Given the description of an element on the screen output the (x, y) to click on. 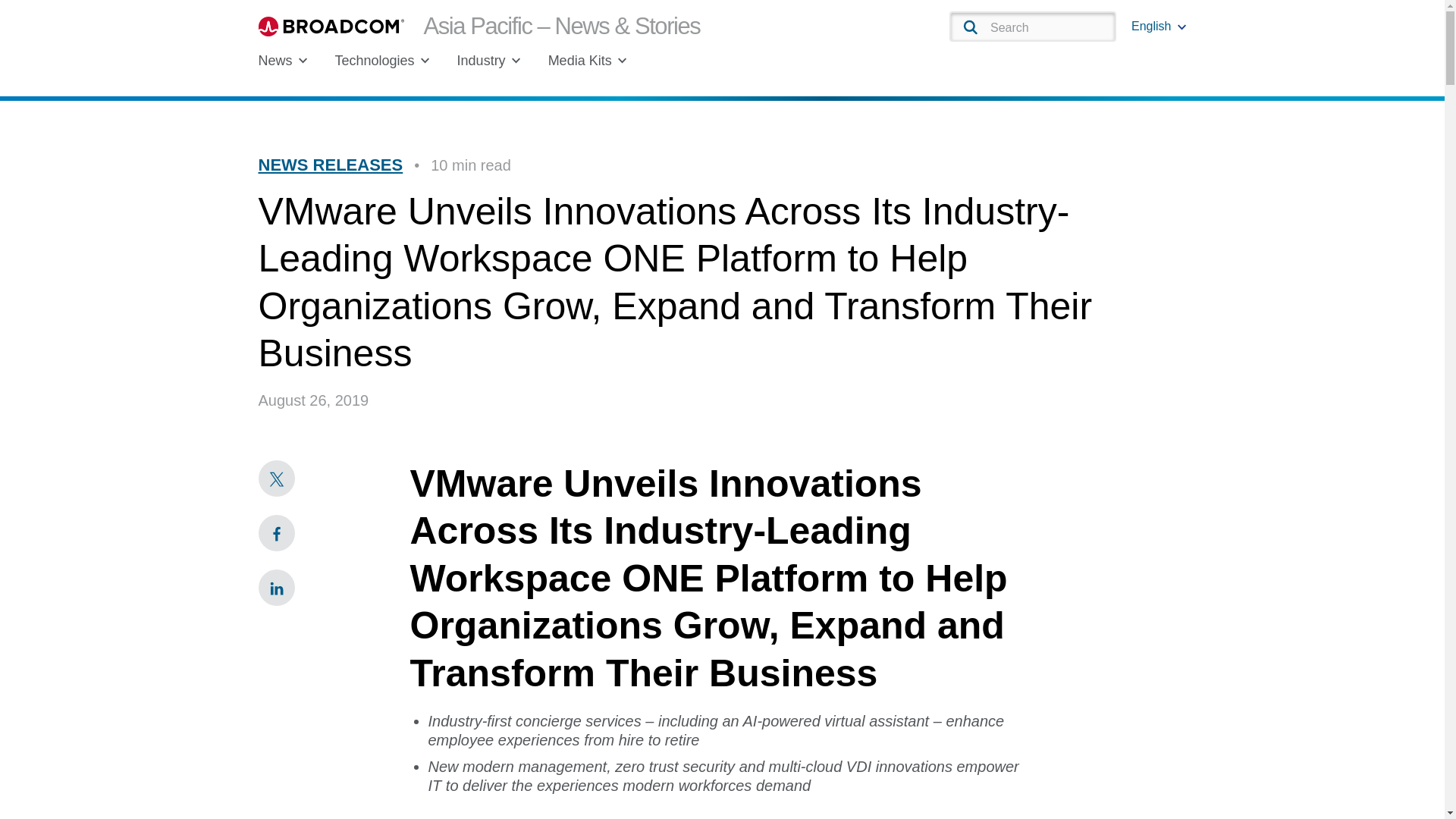
Technologies (381, 60)
Media Kits (587, 60)
Chevron Down Icon (1181, 27)
Industry (489, 60)
Chevron Down Icon (302, 60)
Chevron Down Icon (622, 60)
Open Language Settings (1158, 26)
English (1158, 26)
Chevron Down Icon (424, 60)
News (282, 60)
